Given the description of an element on the screen output the (x, y) to click on. 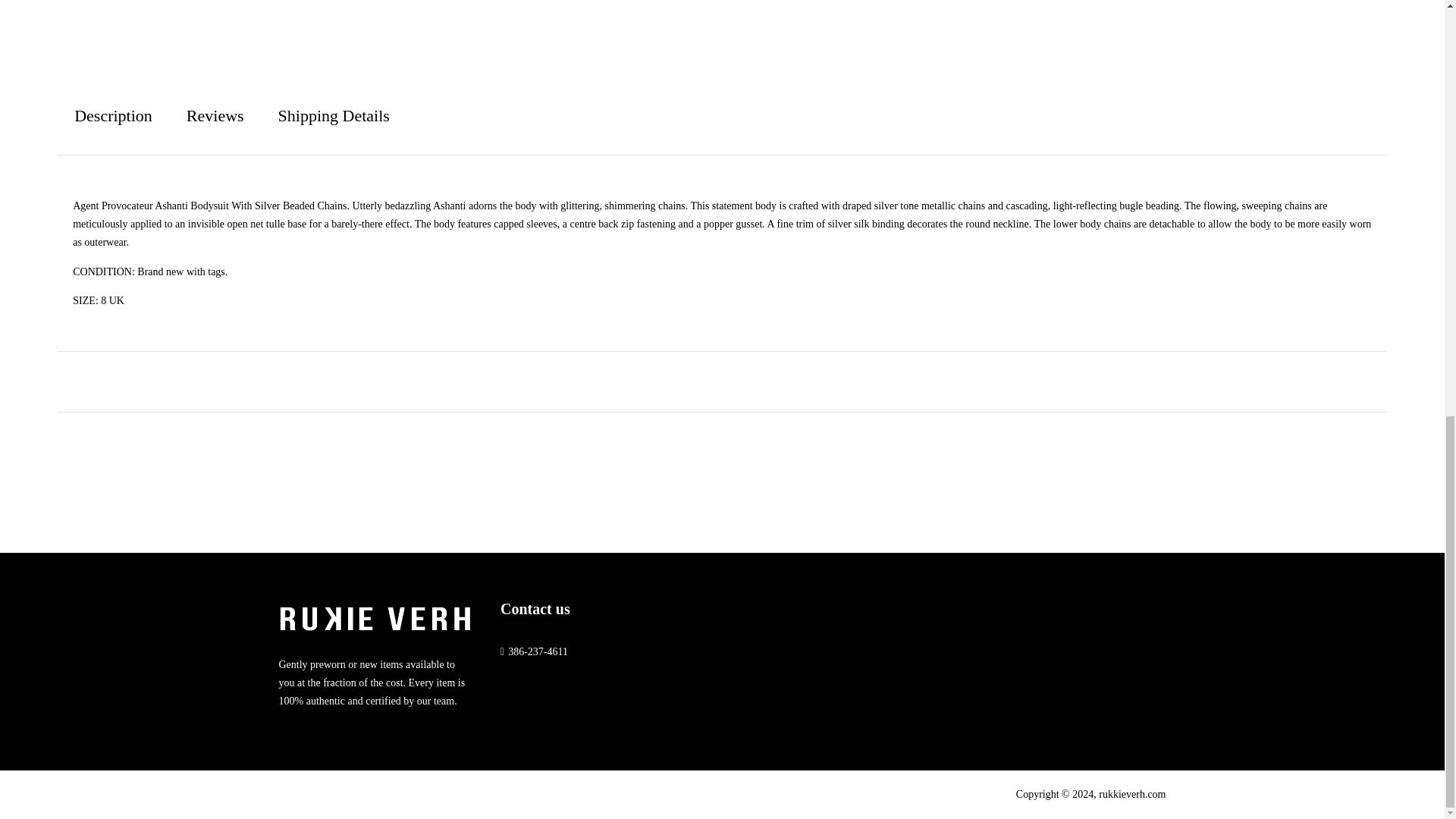
Reviews (215, 116)
Description (113, 116)
Shipping Details (334, 116)
